Given the description of an element on the screen output the (x, y) to click on. 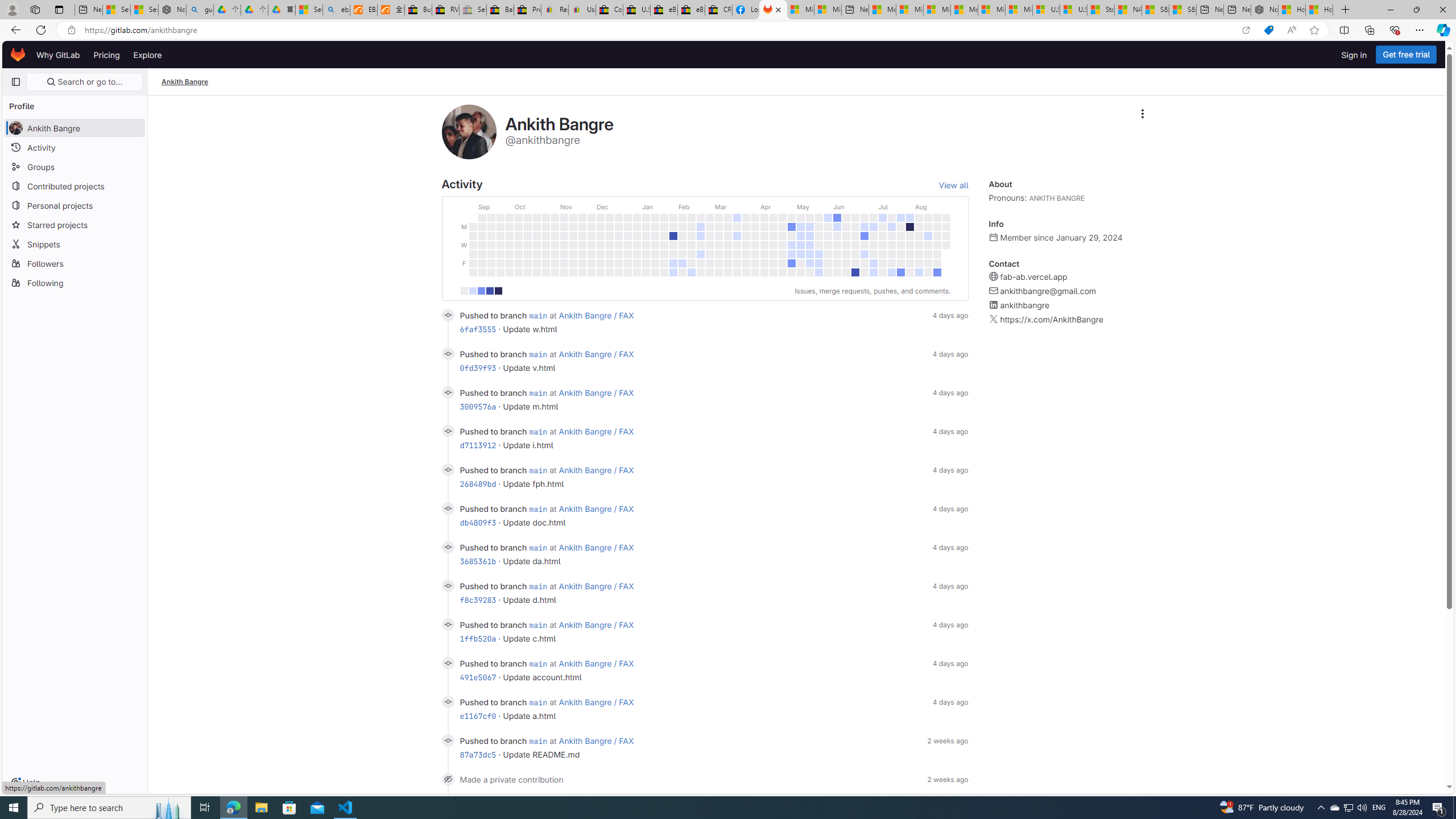
Groups (74, 166)
Starred projects (74, 224)
ankithbangre@gmail.com (1048, 291)
